Given the description of an element on the screen output the (x, y) to click on. 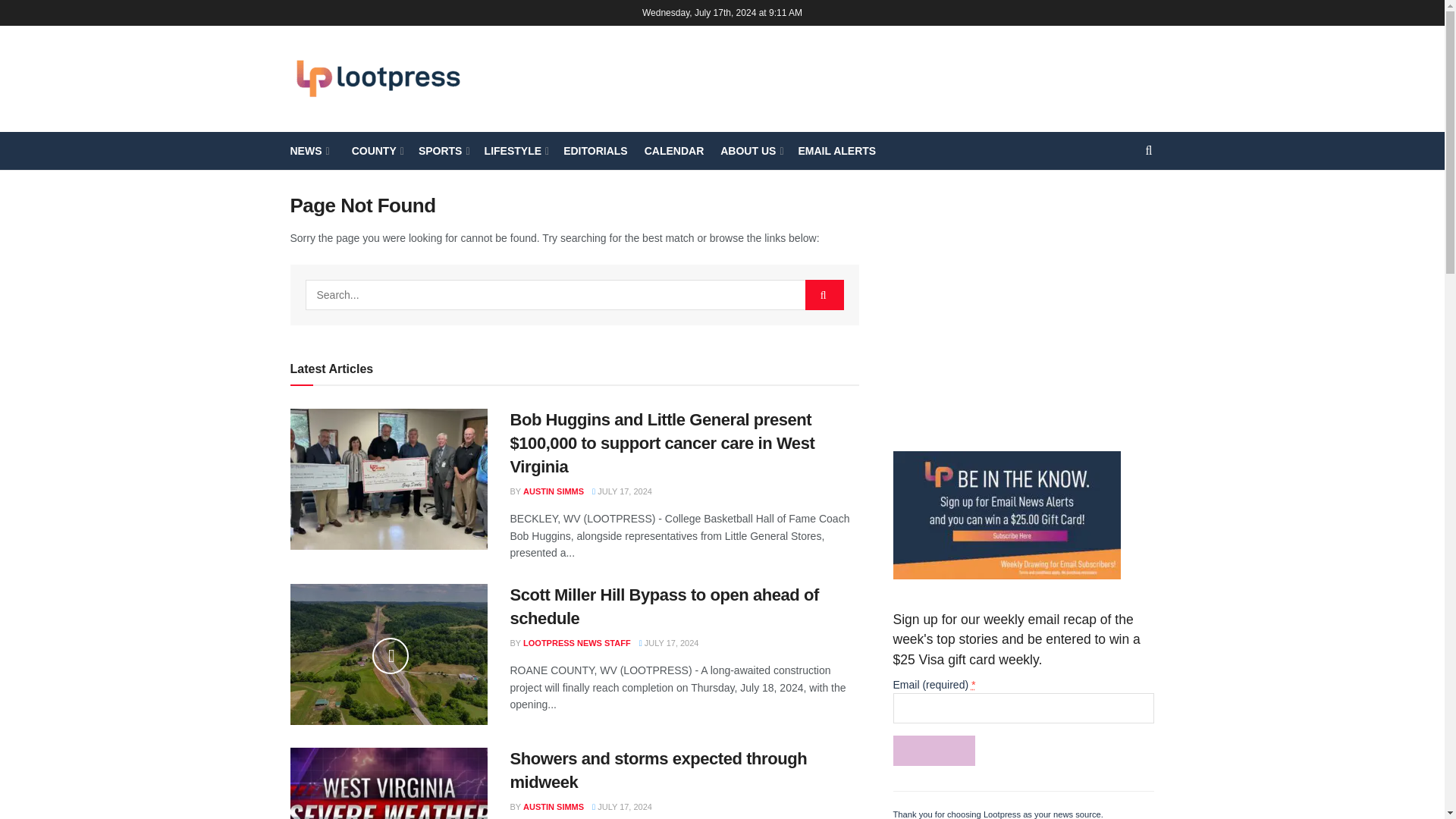
required (973, 684)
3rd party ad content (1023, 306)
COUNTY (372, 150)
Sign up (934, 750)
NEWS (307, 150)
3rd party ad content (878, 79)
